Given the description of an element on the screen output the (x, y) to click on. 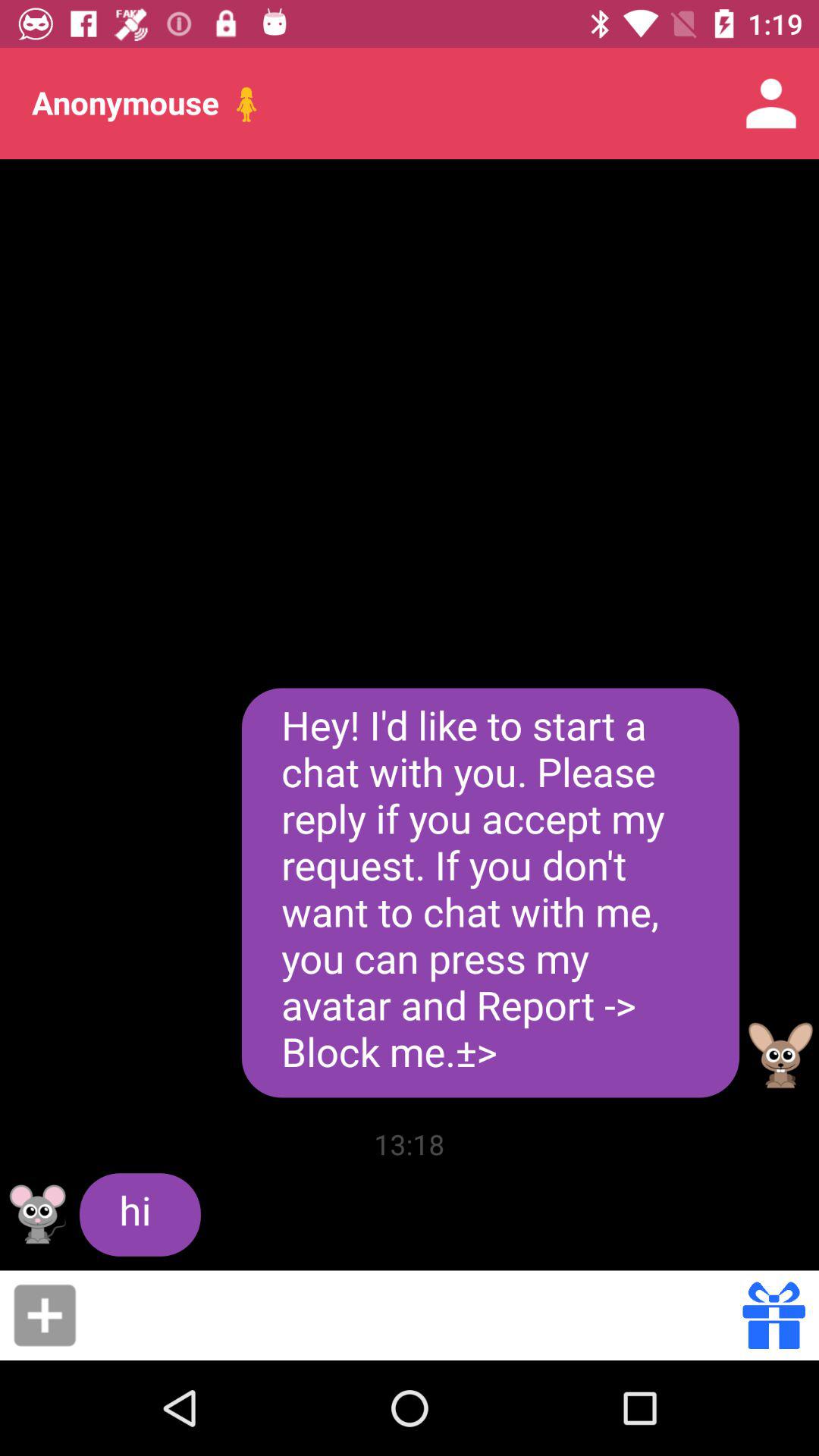
select contact (44, 1315)
